Given the description of an element on the screen output the (x, y) to click on. 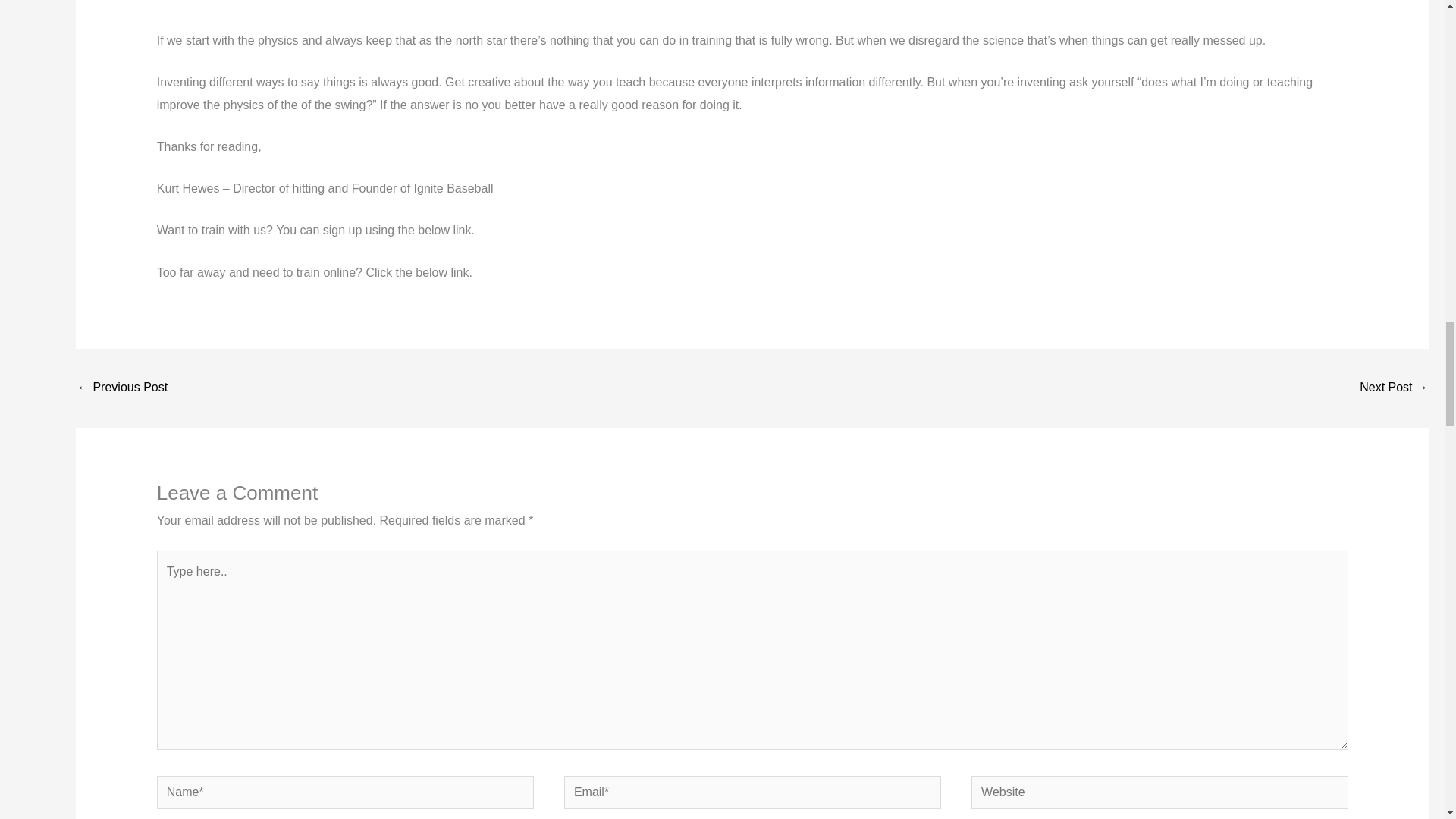
The Basic Physics The Governs All Hitting (753, 14)
The Down Before The Barrel Comes Up (122, 388)
How Should Extension Be Used? (1393, 388)
